Given the description of an element on the screen output the (x, y) to click on. 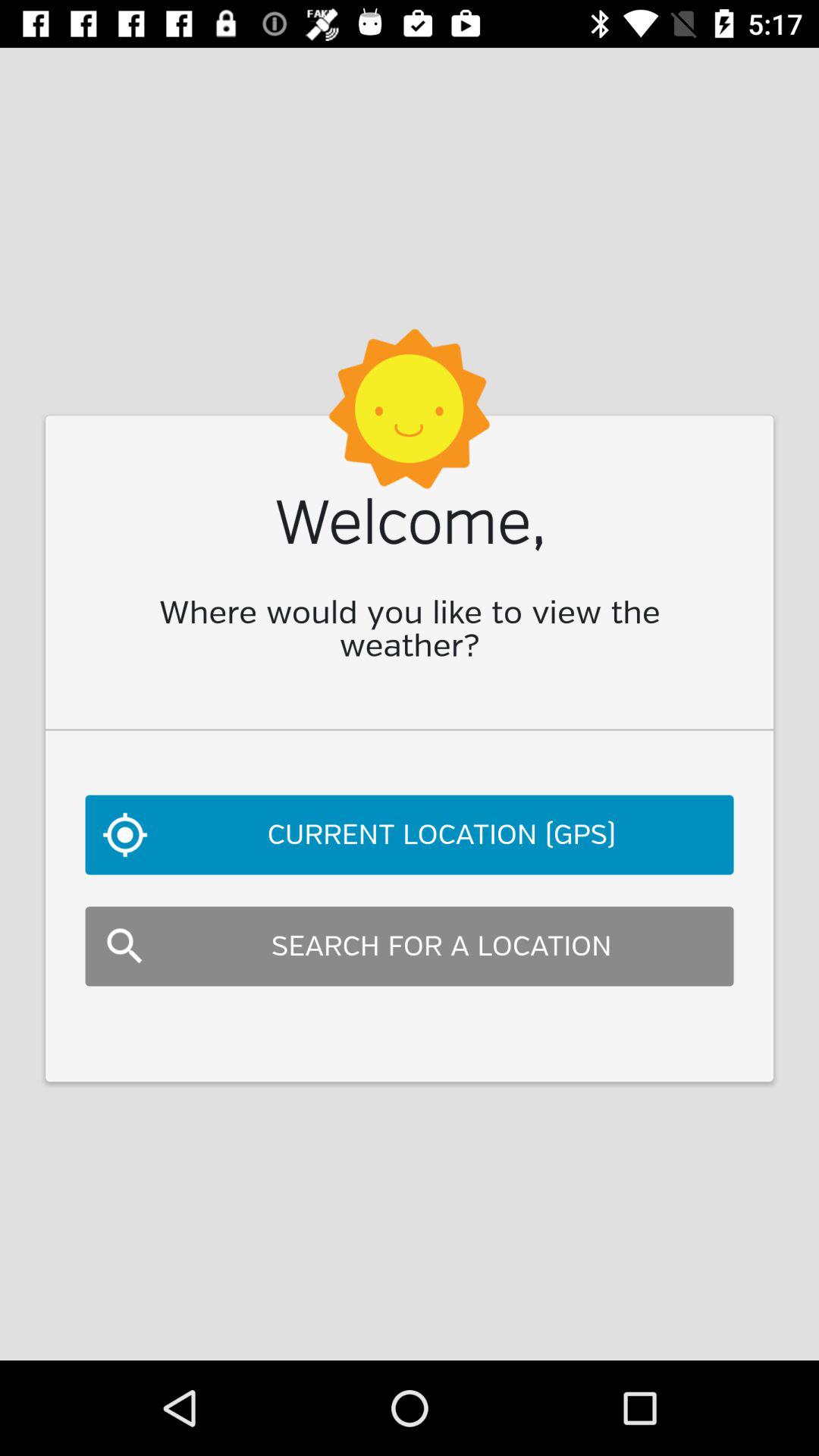
open the item above search for a (409, 834)
